Given the description of an element on the screen output the (x, y) to click on. 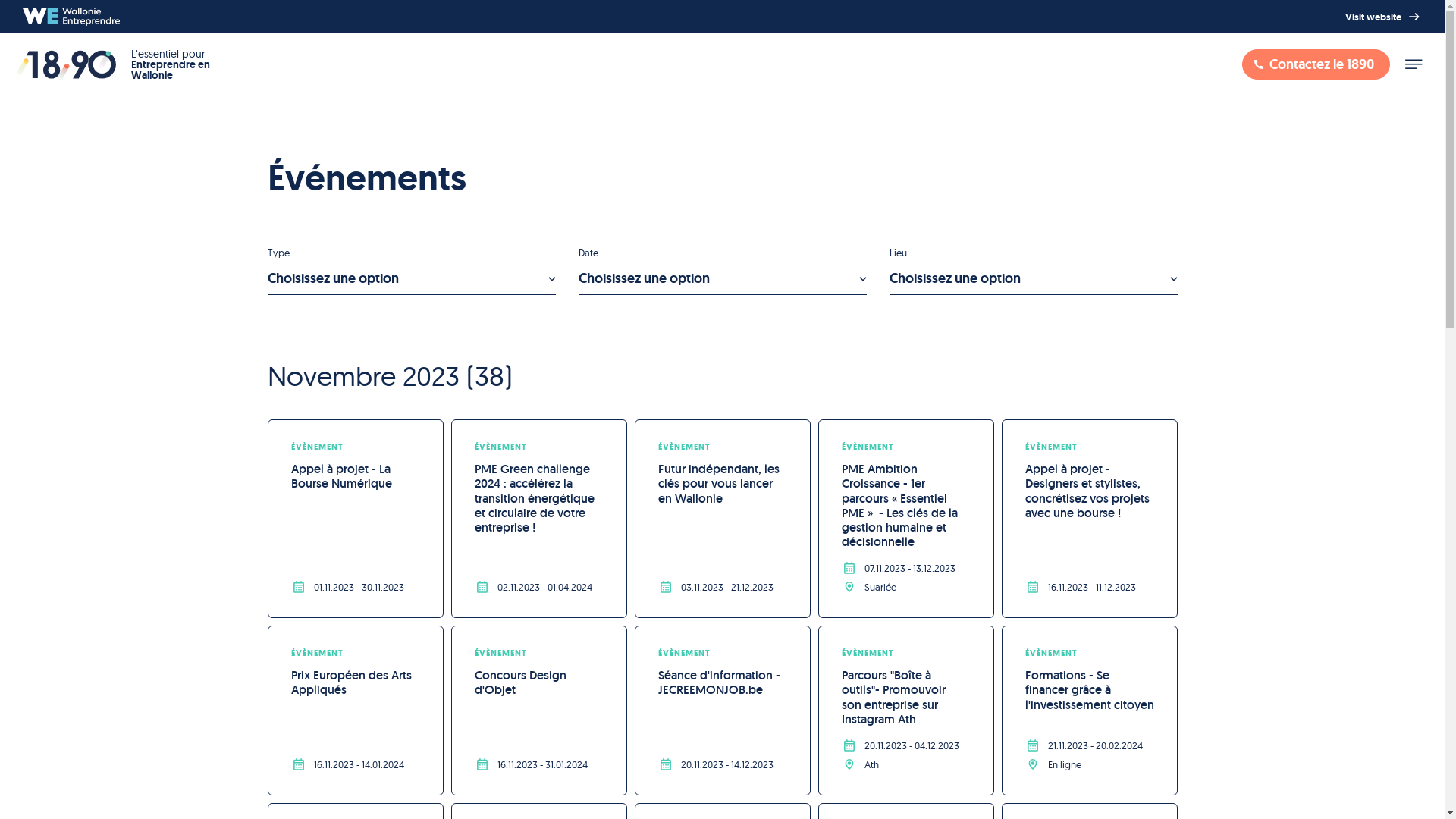
Contactez le 1890 Element type: text (1316, 64)
Choisissez une option Element type: text (1032, 278)
Wallonie Entreprendre Element type: hover (70, 16)
Visit website Element type: text (1383, 16)
Choisissez une option Element type: text (410, 278)
Choisissez une option Element type: text (721, 278)
